Given the description of an element on the screen output the (x, y) to click on. 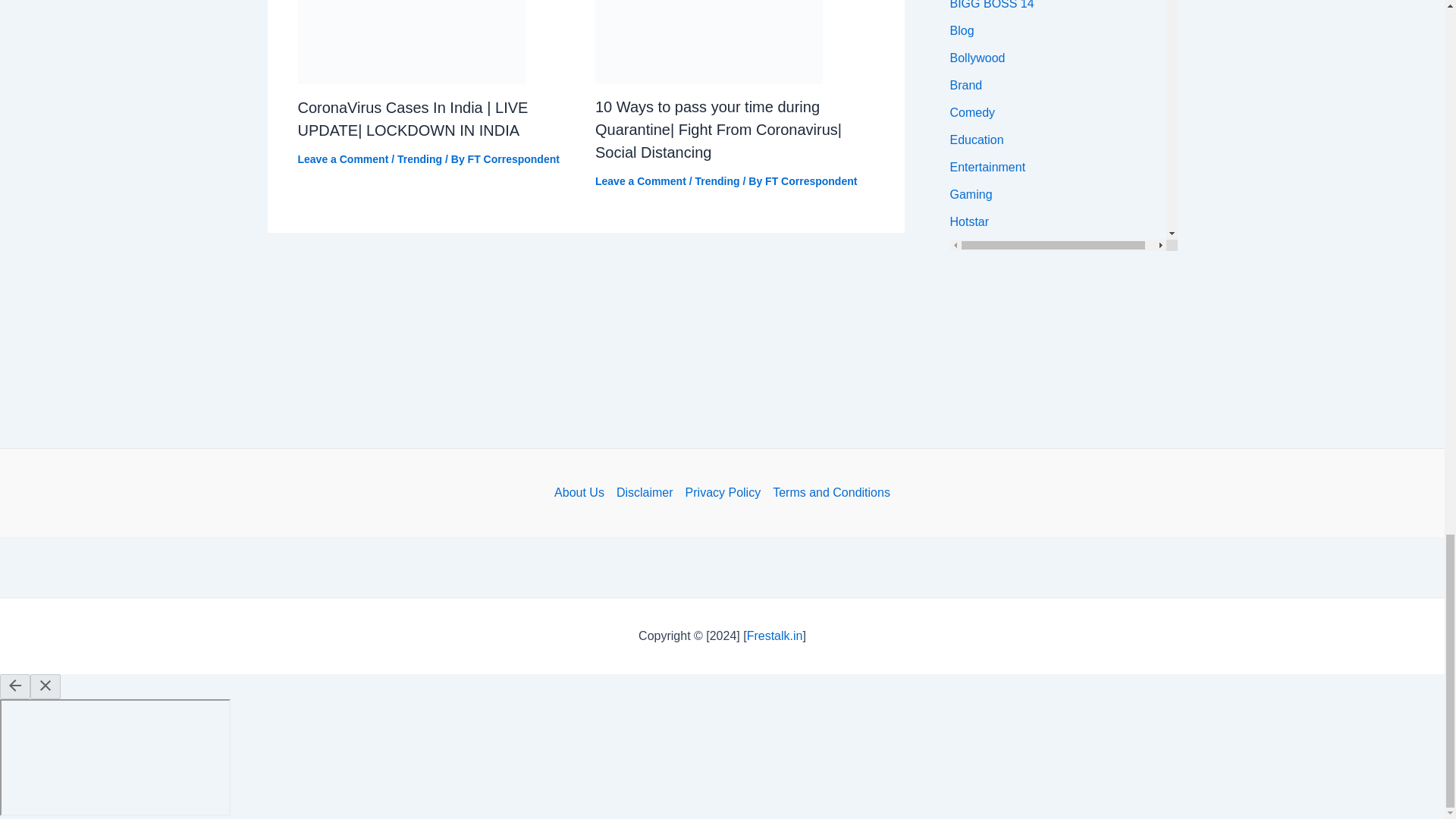
View all posts by FT Correspondent (811, 181)
FT Correspondent (811, 181)
FT Correspondent (513, 159)
Leave a Comment (342, 159)
Leave a Comment (640, 181)
Trending (716, 181)
View all posts by FT Correspondent (513, 159)
Advertisement (721, 566)
Advertisement (721, 406)
Advertisement (721, 323)
Trending (419, 159)
